Given the description of an element on the screen output the (x, y) to click on. 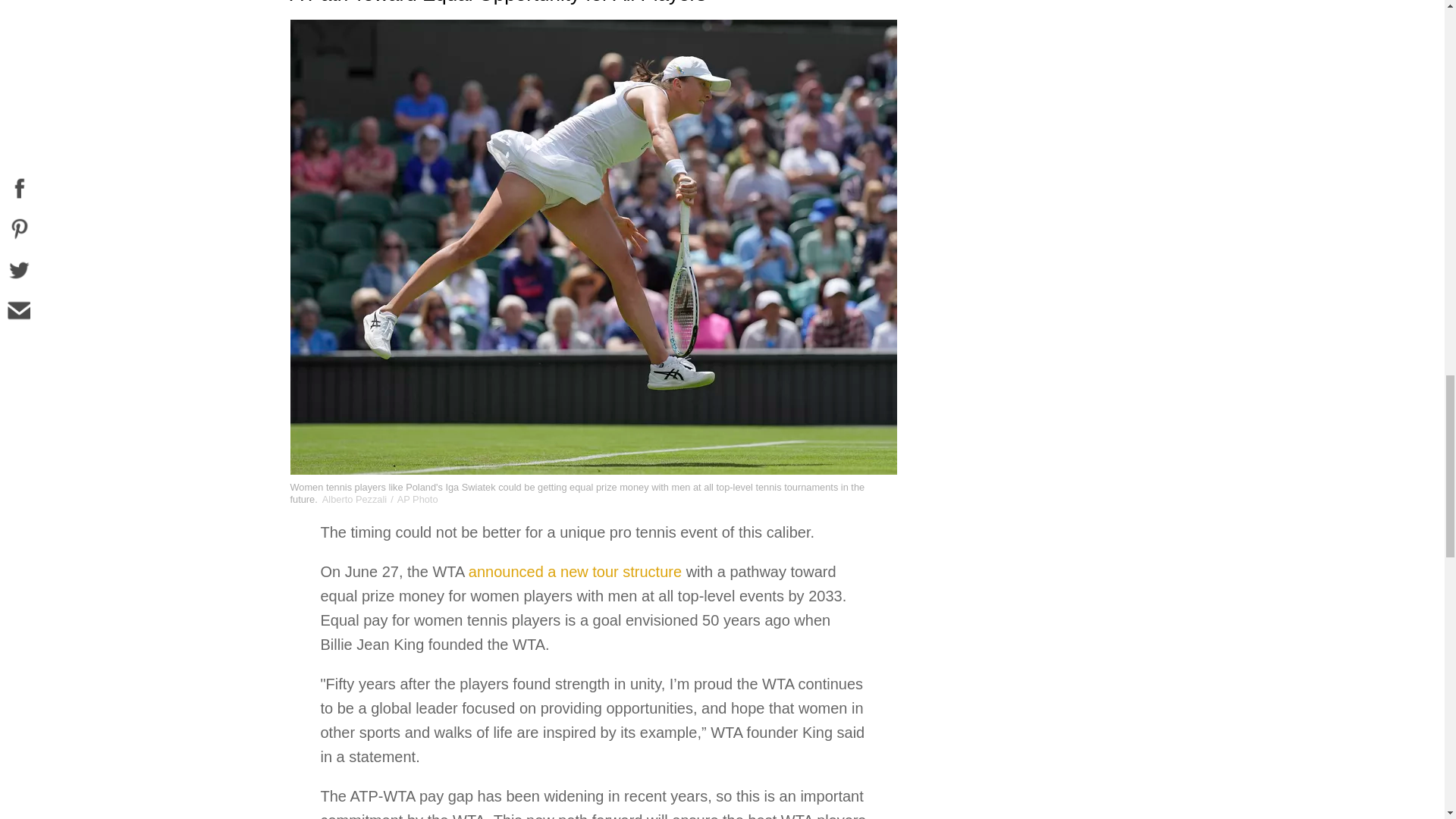
announced a new tour structure (574, 571)
